Given the description of an element on the screen output the (x, y) to click on. 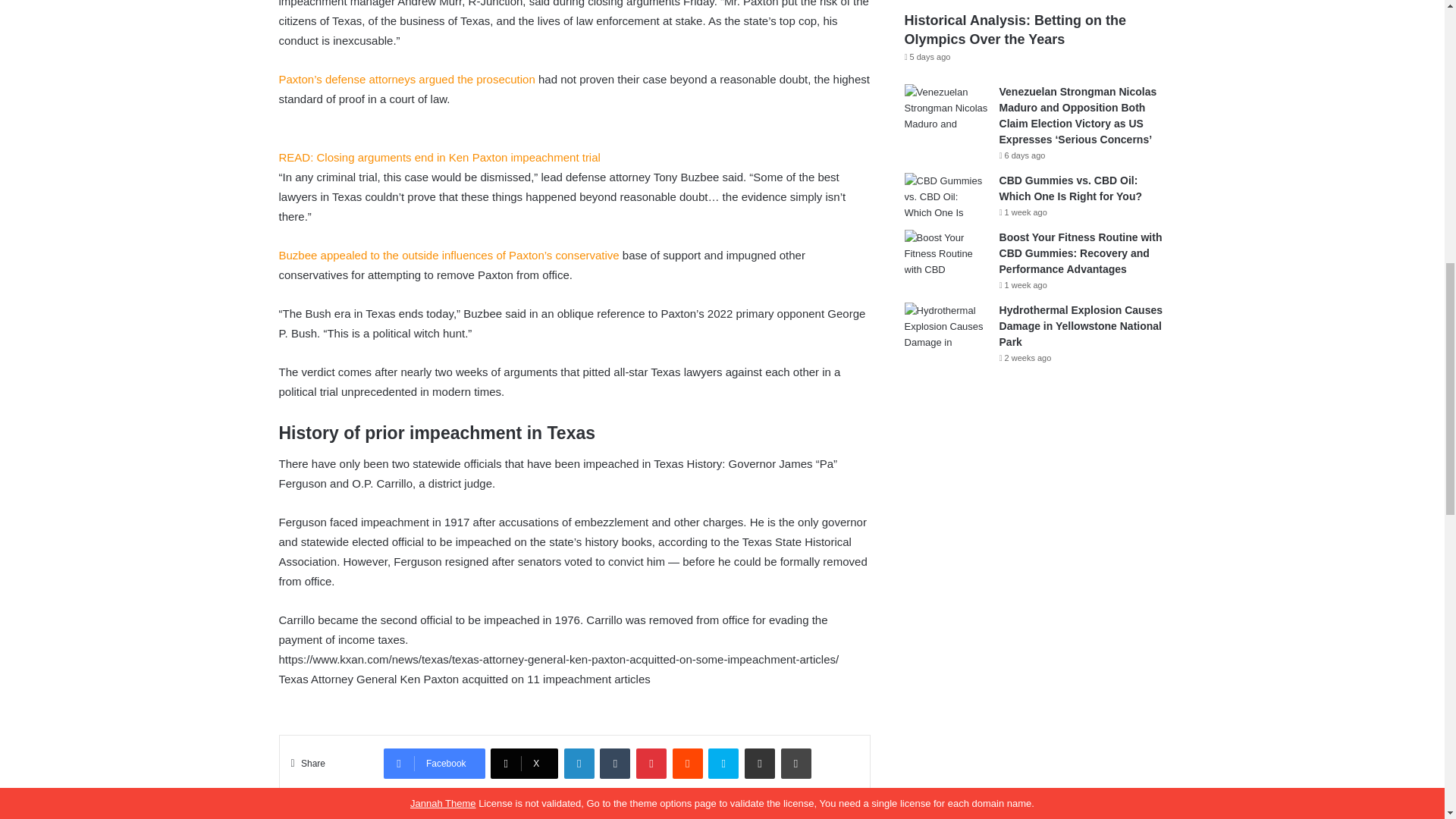
Reddit (687, 763)
Tumblr (614, 763)
Print (795, 763)
READ: Closing arguments end in Ken Paxton impeachment trial (439, 166)
LinkedIn (579, 763)
Skype (722, 763)
Skype (722, 763)
Share via Email (759, 763)
X (523, 763)
X (523, 763)
